Given the description of an element on the screen output the (x, y) to click on. 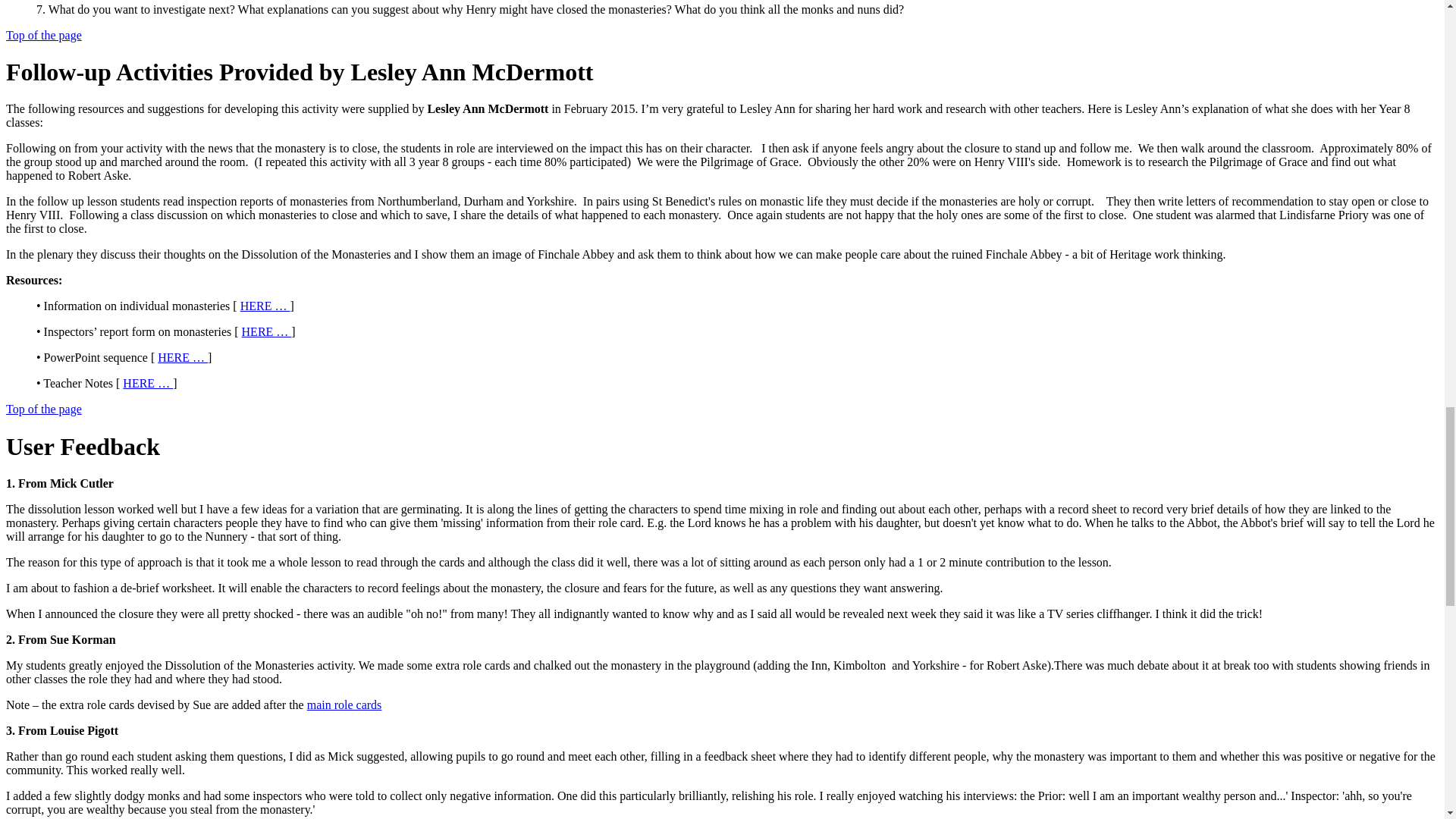
Download the resource (147, 382)
Top of the page (43, 34)
Download the resource (266, 331)
Top of the page (43, 408)
main role cards (344, 704)
Download the resource (182, 357)
Download the resource (264, 305)
Role cards, including Sue's extra ones (344, 704)
